Given the description of an element on the screen output the (x, y) to click on. 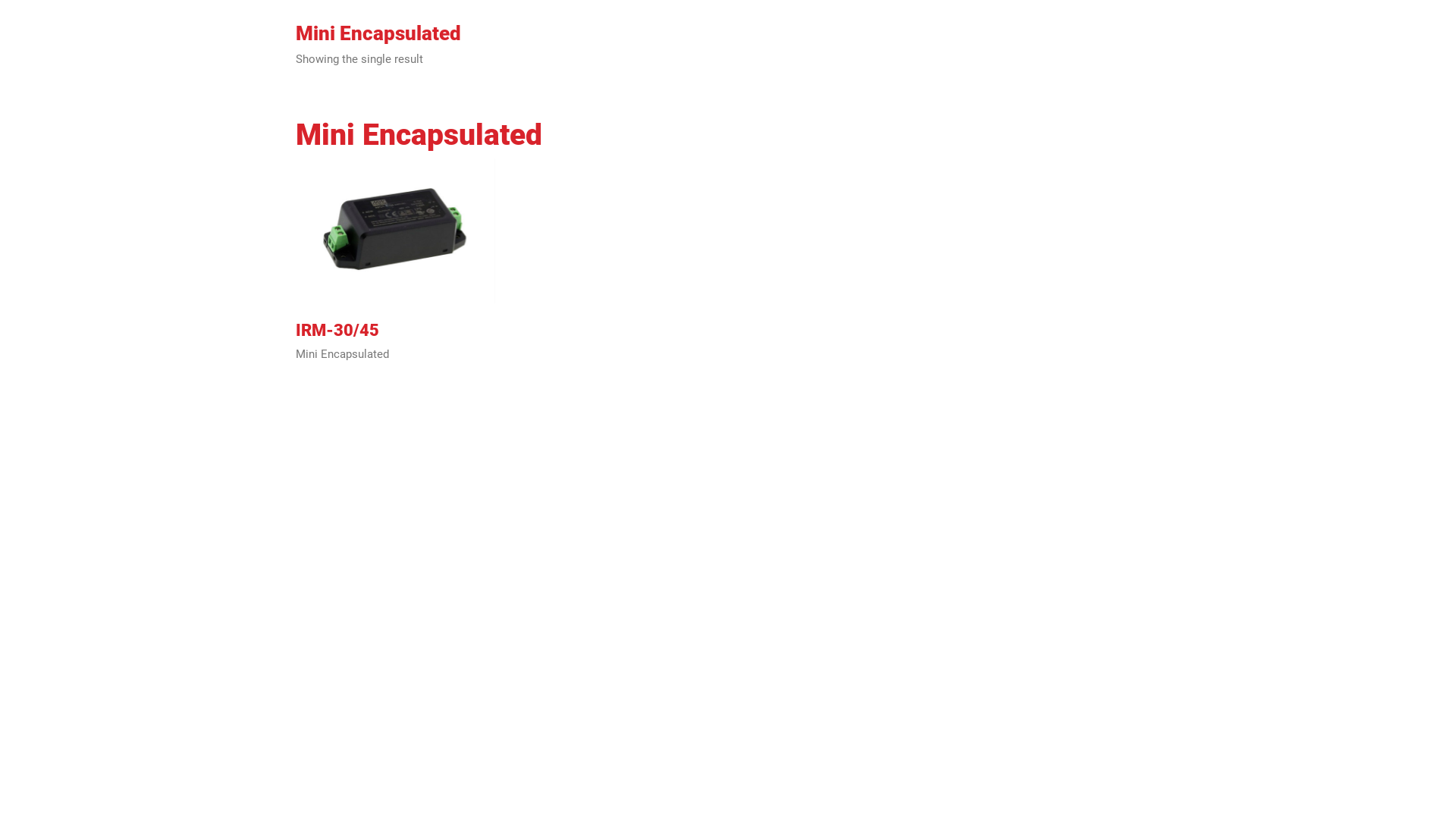
IRM-30/45 Element type: text (337, 330)
Mini Encapsulated Element type: text (342, 354)
